Given the description of an element on the screen output the (x, y) to click on. 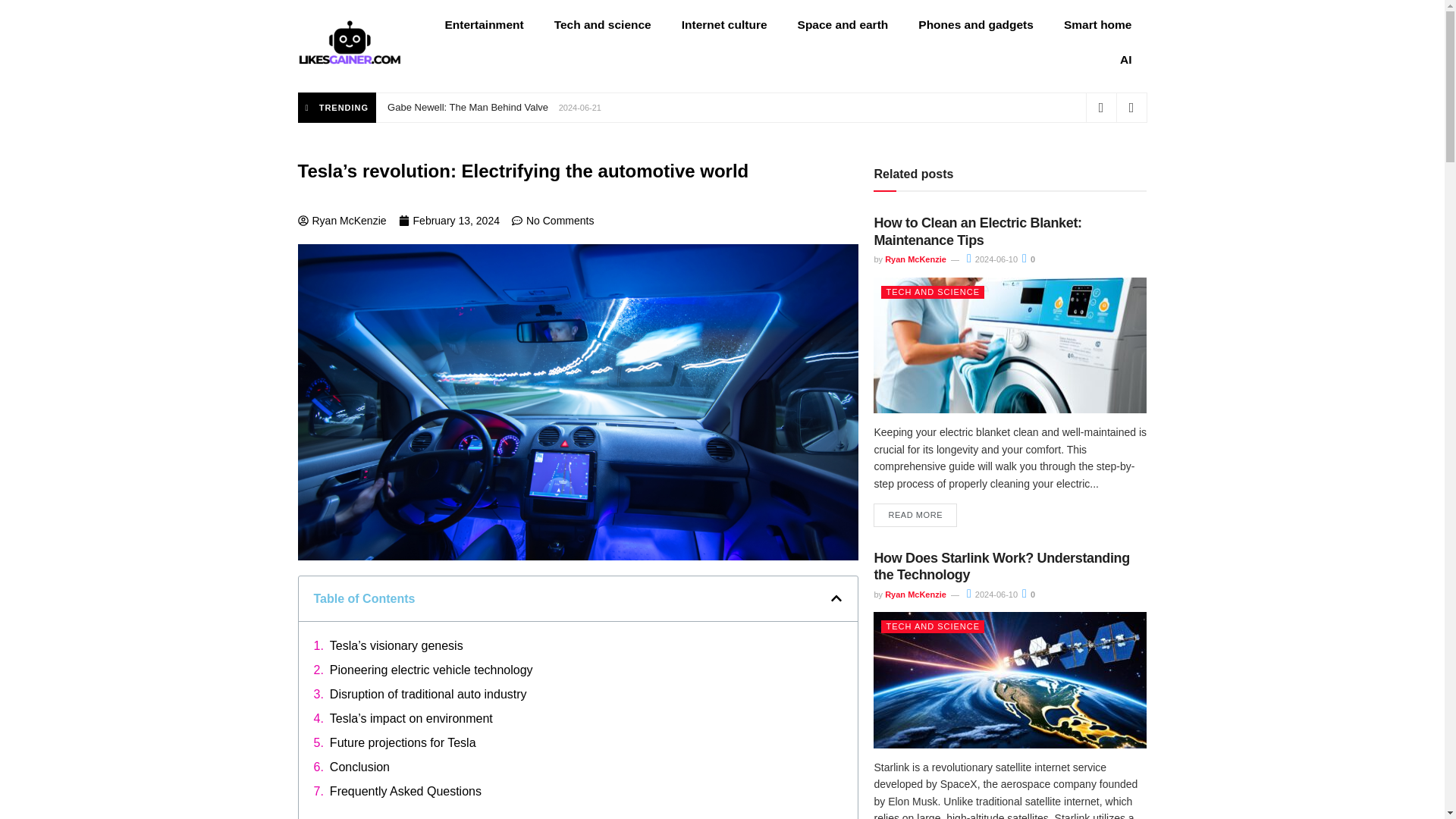
Ryan McKenzie (915, 593)
February 13, 2024 (448, 220)
Gabe Newell: The Man Behind Valve (467, 107)
Smart home (1097, 24)
Space and earth (843, 24)
0 (1028, 258)
Conclusion (360, 767)
READ MORE (914, 515)
Frequently Asked Questions (405, 791)
Disruption of traditional auto industry (428, 694)
2024-06-10 (991, 258)
How Does Starlink Work? Understanding the Technology (1001, 566)
Ryan McKenzie (341, 220)
How to Clean an Electric Blanket: Maintenance Tips (977, 231)
